Given the description of an element on the screen output the (x, y) to click on. 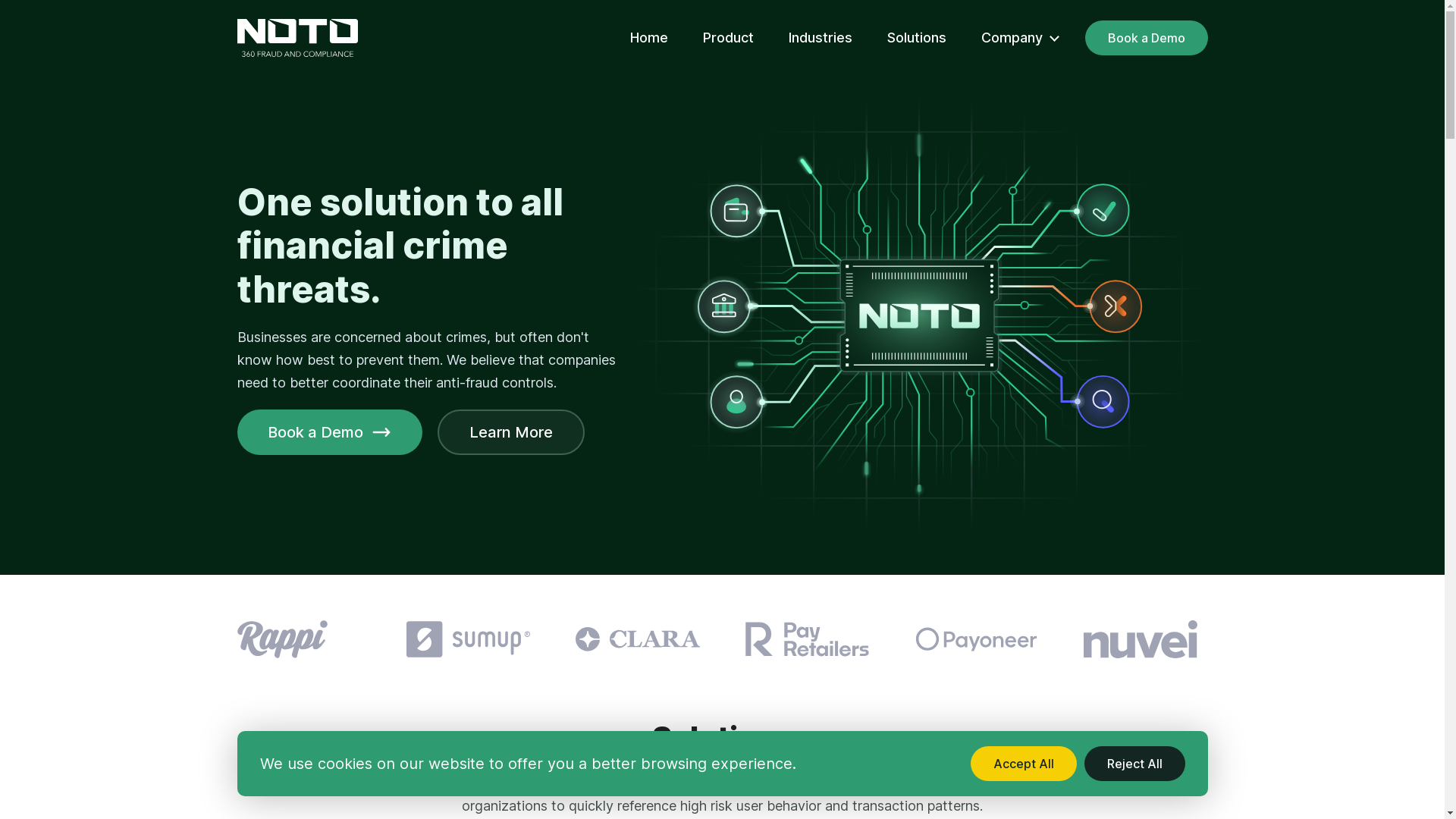
Solutions (916, 37)
Industries (820, 37)
Book a Demo (328, 432)
Product (727, 37)
Home (648, 37)
Learn More (509, 432)
Book a Demo (1145, 37)
